Given the description of an element on the screen output the (x, y) to click on. 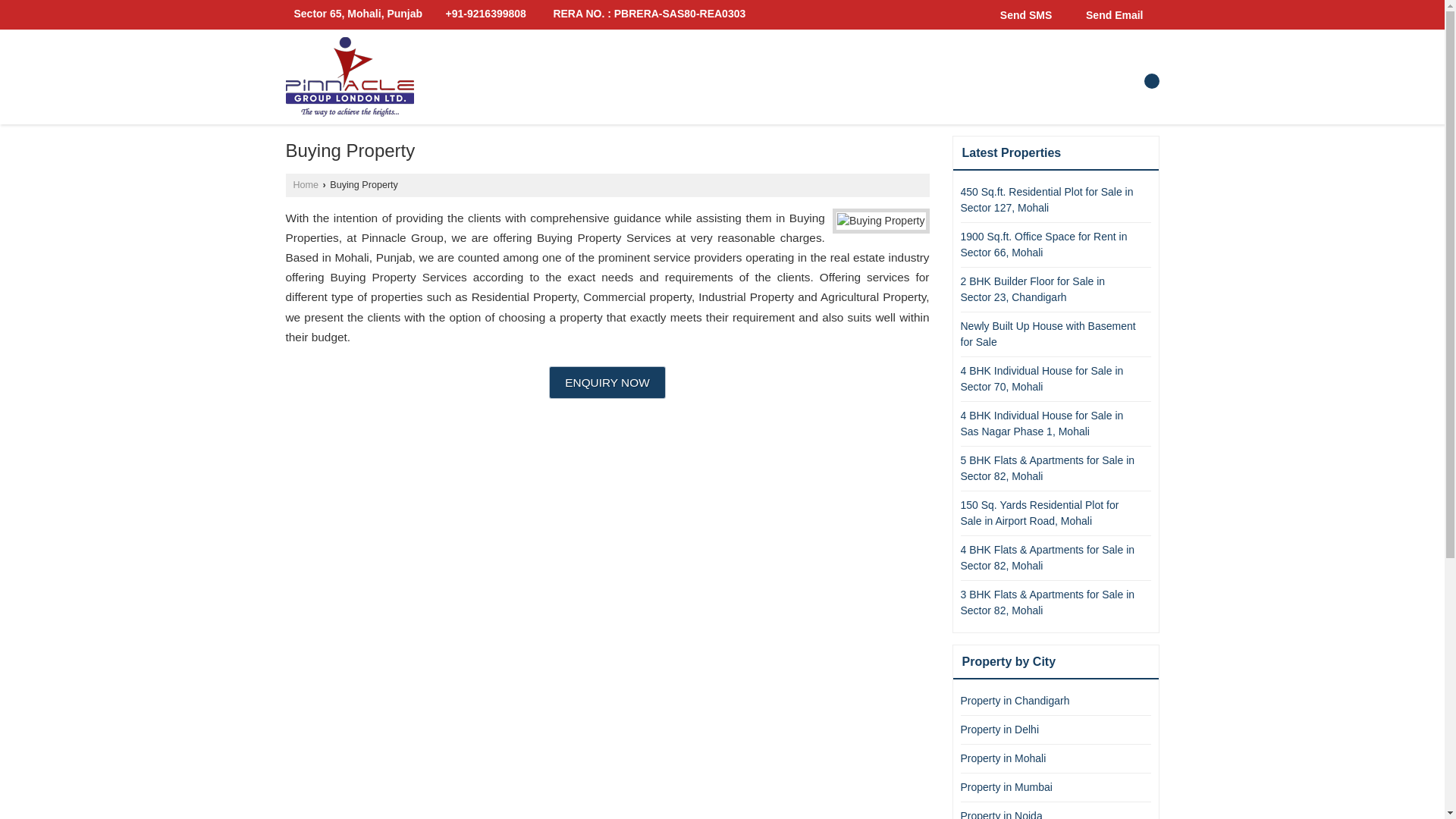
Search (1150, 79)
Send Email (1110, 14)
Pinnacle Group (349, 76)
Send SMS (1022, 14)
